Given the description of an element on the screen output the (x, y) to click on. 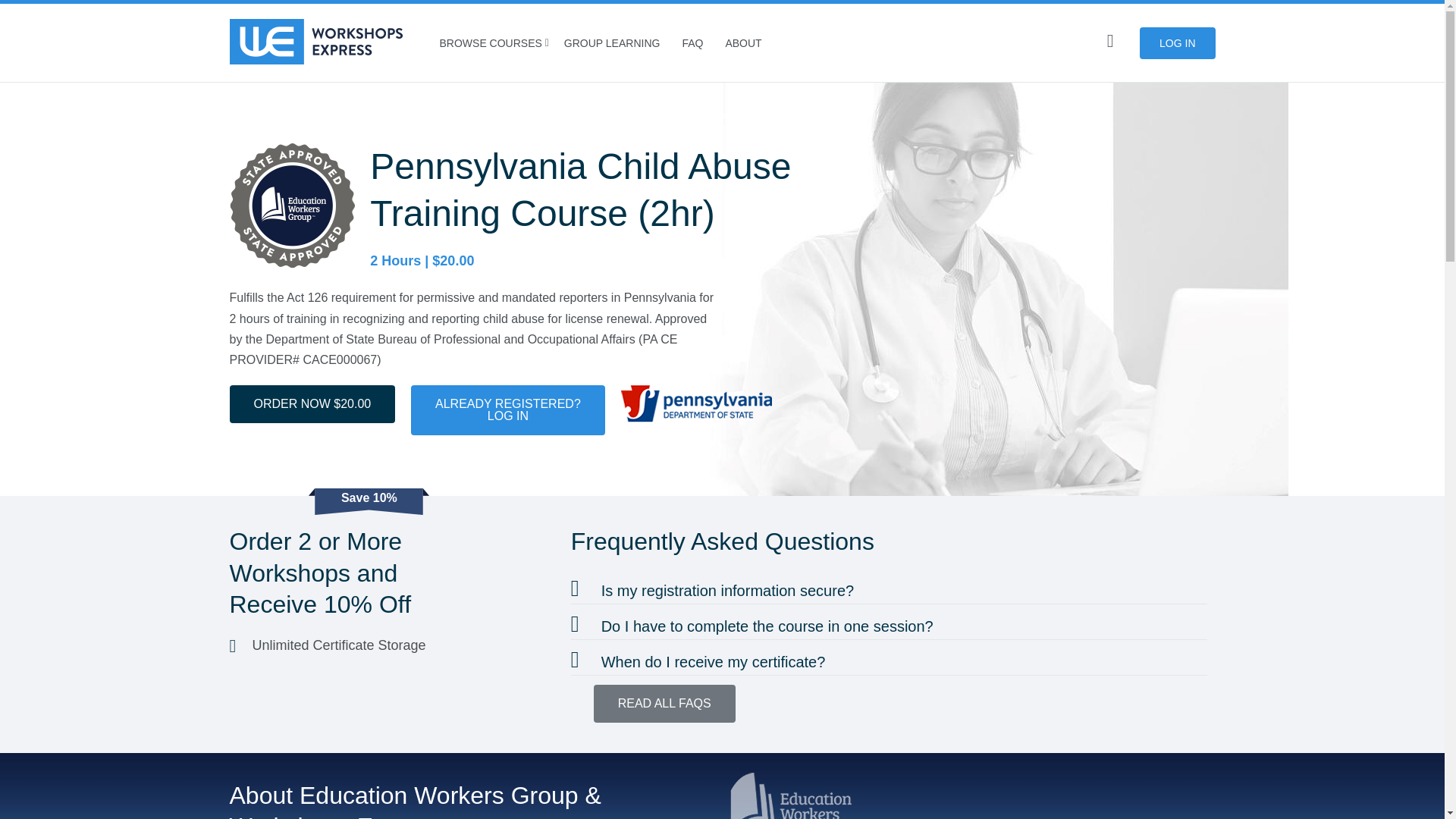
READ ALL FAQS (664, 703)
LOG IN (1177, 42)
BROWSE COURSES (490, 42)
GROUP LEARNING (612, 42)
ABOUT (743, 42)
FAQ (692, 42)
About (743, 42)
YouTube video player (507, 409)
Group Learning (1096, 796)
